Given the description of an element on the screen output the (x, y) to click on. 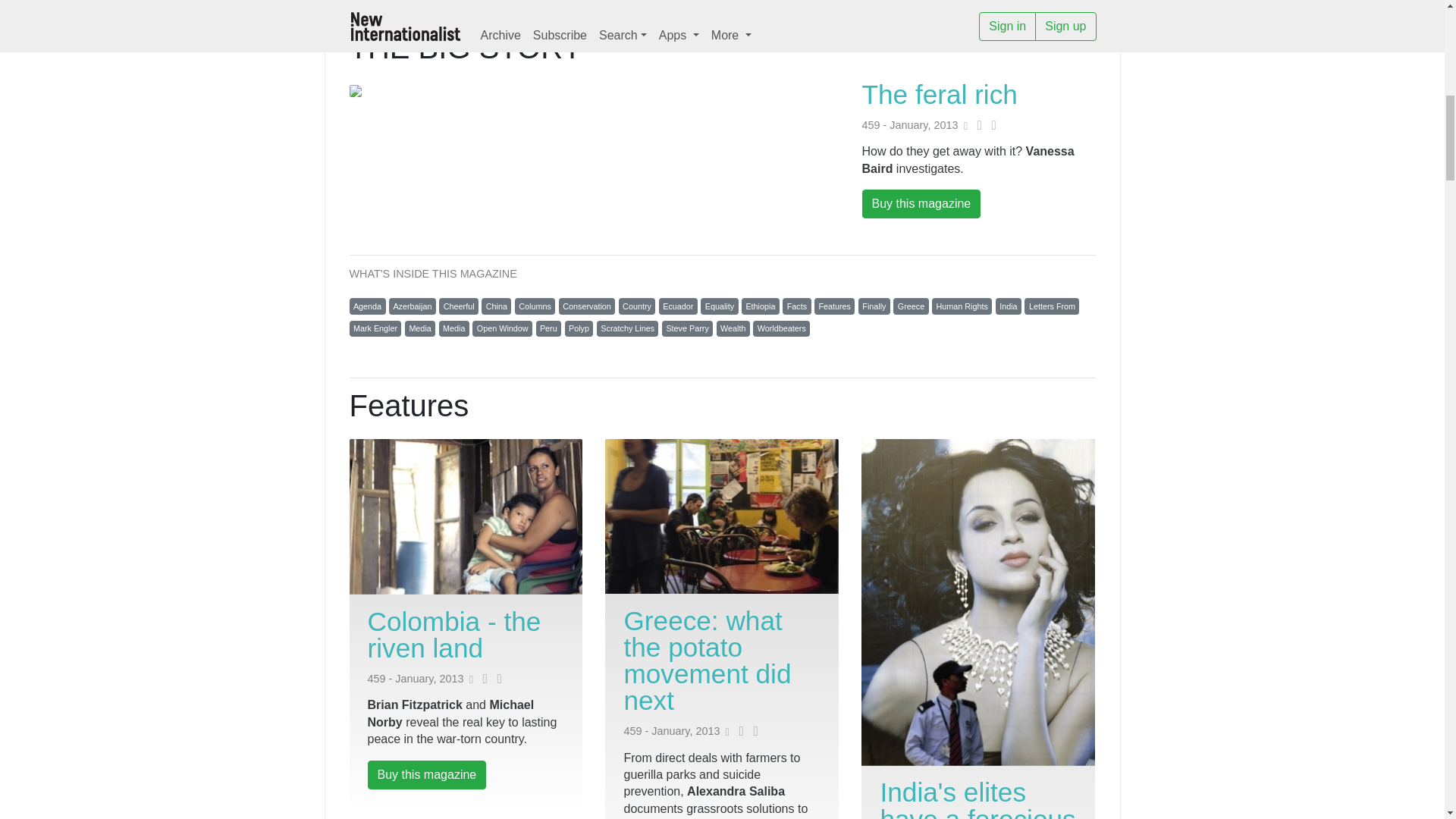
Share this article on Facebook (752, 731)
Columns (534, 306)
Cheerful (459, 306)
Conservation (586, 306)
Share this article on Facebook (496, 679)
Share this article on Facebook (990, 125)
Azerbaijan (411, 306)
Tweet about this article (481, 679)
Buy this magazine (920, 203)
459 - January, 2013 (909, 125)
Tweet about this article (976, 125)
The feral rich (938, 93)
Agenda (367, 306)
